Given the description of an element on the screen output the (x, y) to click on. 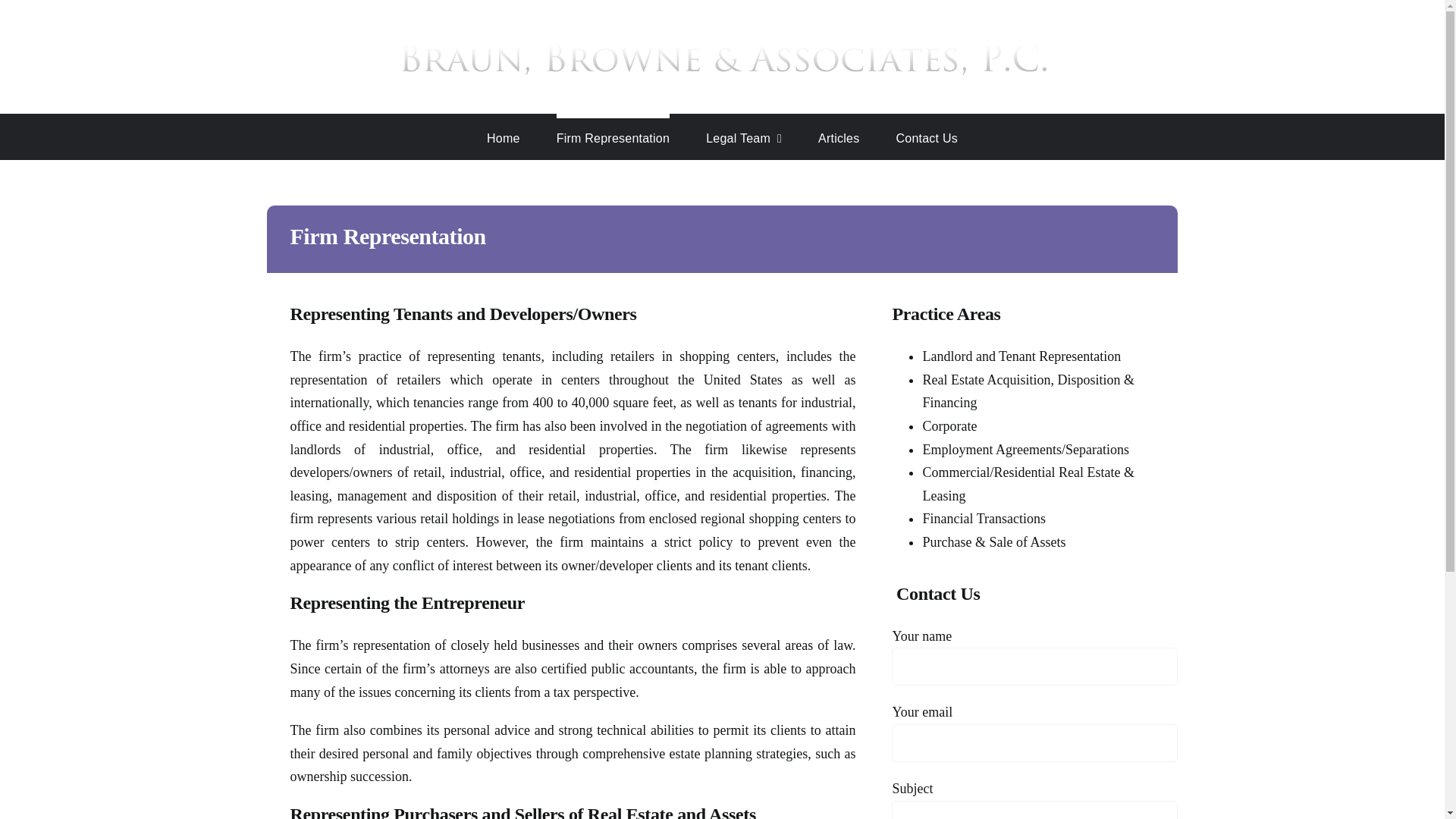
Articles (838, 135)
Contact Us (926, 135)
Legal Team (743, 135)
Firm Representation (612, 135)
